Given the description of an element on the screen output the (x, y) to click on. 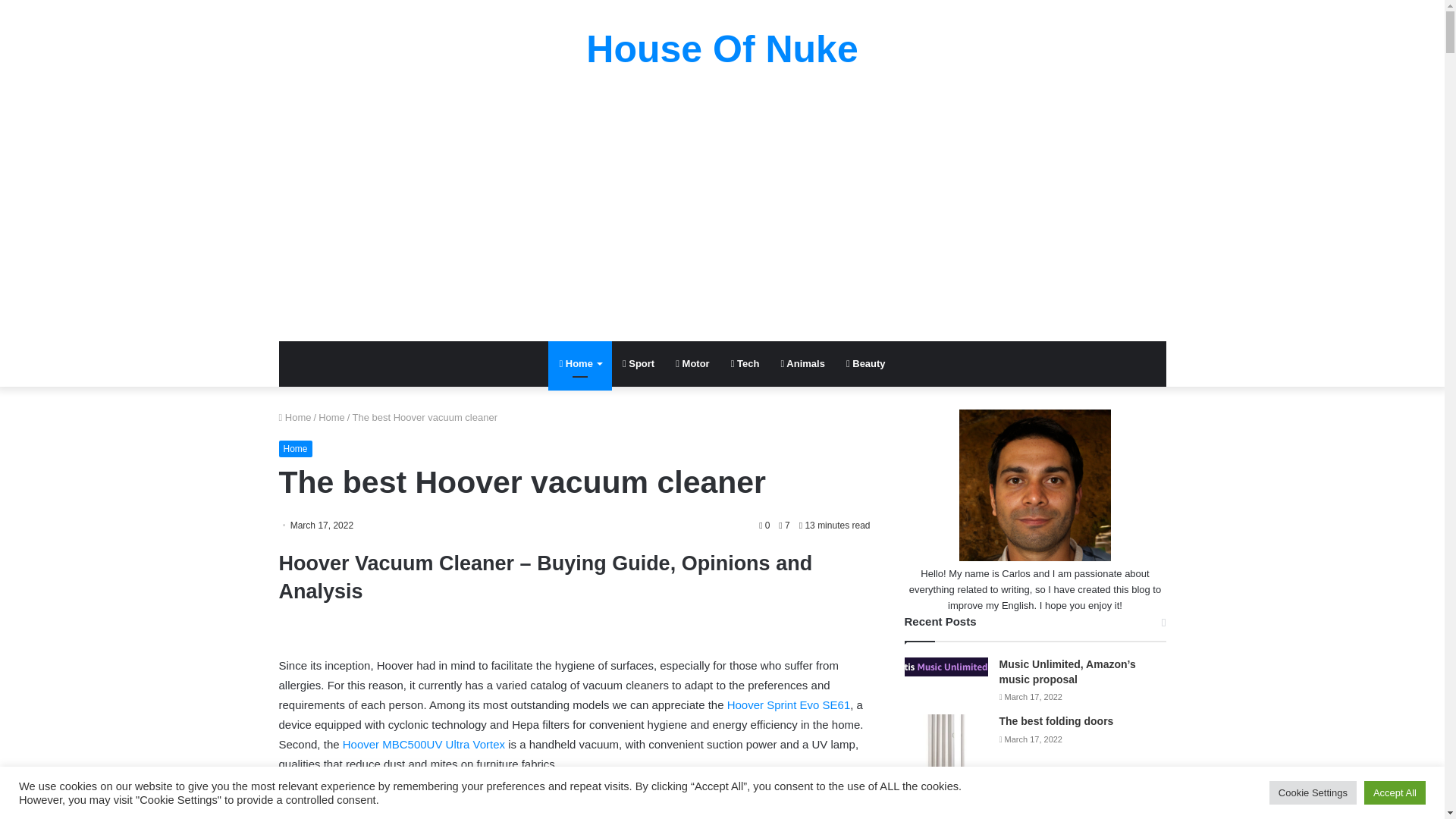
Hoover MBC500UV Ultra Vortex (423, 744)
Motor (692, 363)
House Of Nuke (721, 48)
Sport (638, 363)
Animals (802, 363)
Home (296, 448)
Home (331, 417)
Beauty (865, 363)
Hoover Sprint Evo SE61 (788, 704)
Home (579, 363)
Tech (745, 363)
Home (295, 417)
House Of Nuke (721, 48)
